Given the description of an element on the screen output the (x, y) to click on. 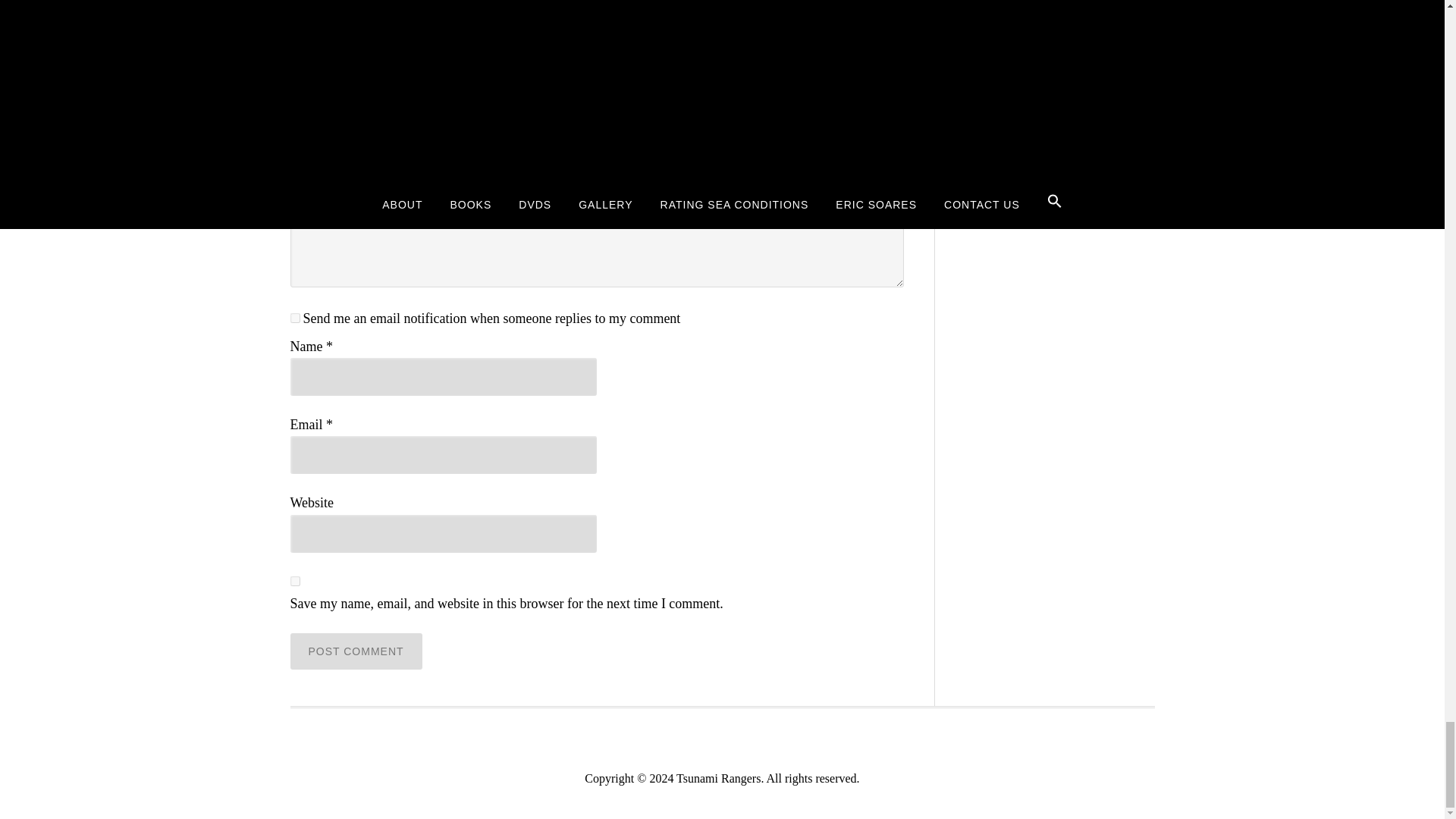
Post Comment (355, 651)
yes (294, 581)
1 (294, 317)
